Given the description of an element on the screen output the (x, y) to click on. 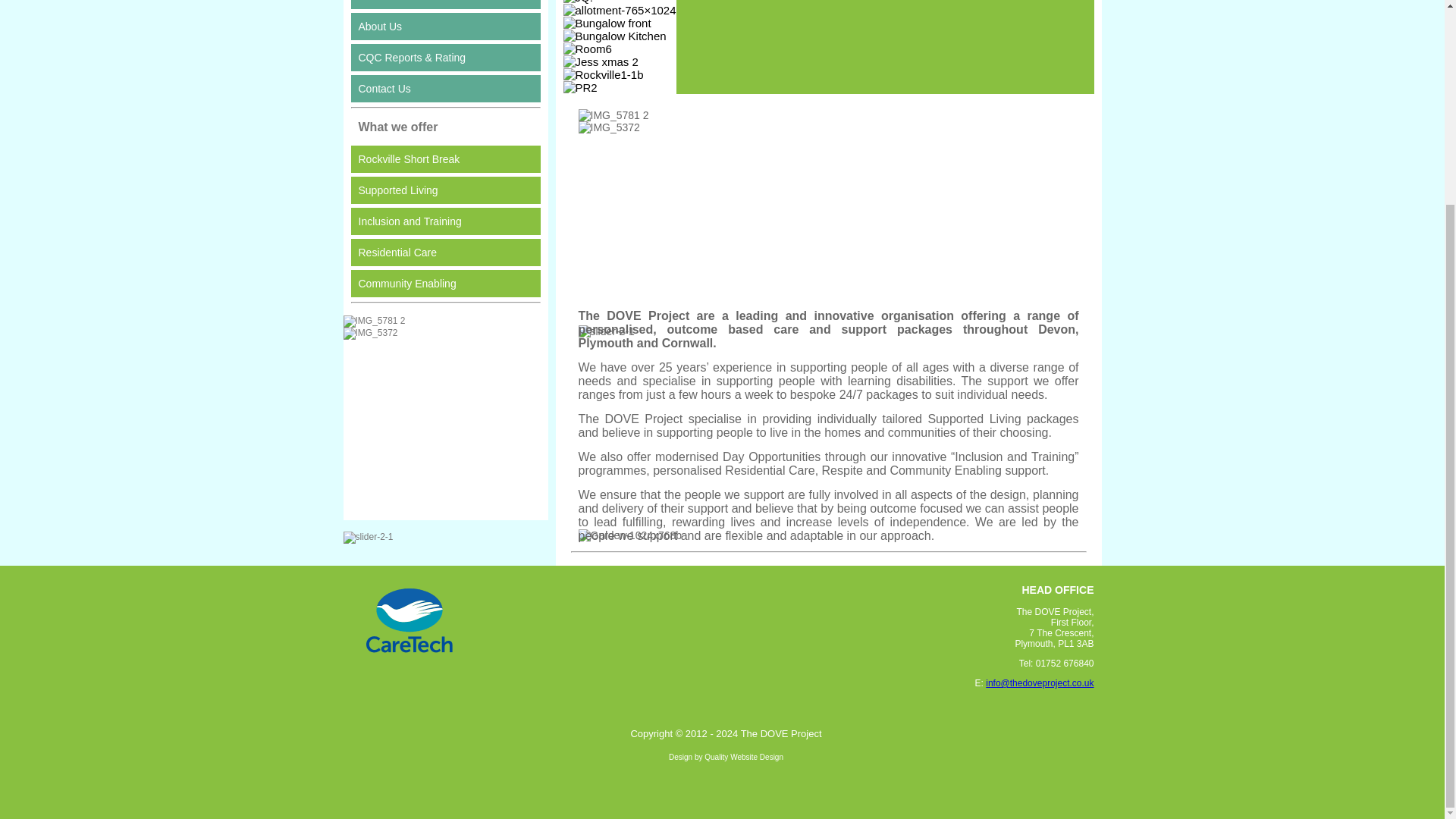
Home (445, 4)
Inclusion and Training (445, 221)
Residential Care (445, 252)
About Us (445, 26)
Contact Us (445, 88)
Supported Living (445, 189)
Design by Quality Website Design (725, 756)
Rockville Short Break (445, 158)
Community Enabling (445, 283)
